Given the description of an element on the screen output the (x, y) to click on. 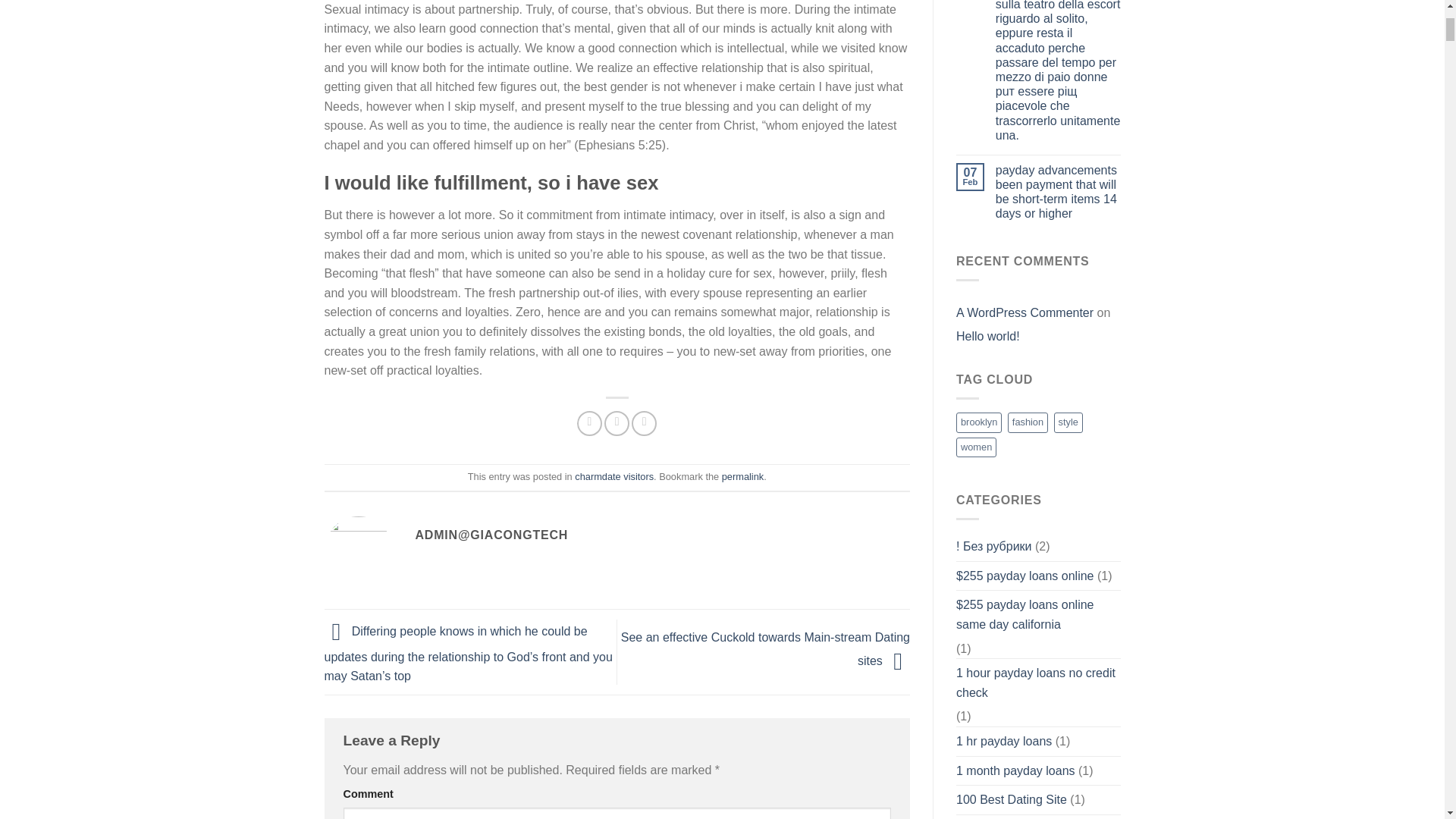
See an effective Cuckold towards Main-stream Dating sites (765, 648)
charmdate visitors (614, 476)
Share on Facebook (589, 423)
Share on Twitter (616, 423)
Email to a Friend (643, 423)
permalink (742, 476)
